Given the description of an element on the screen output the (x, y) to click on. 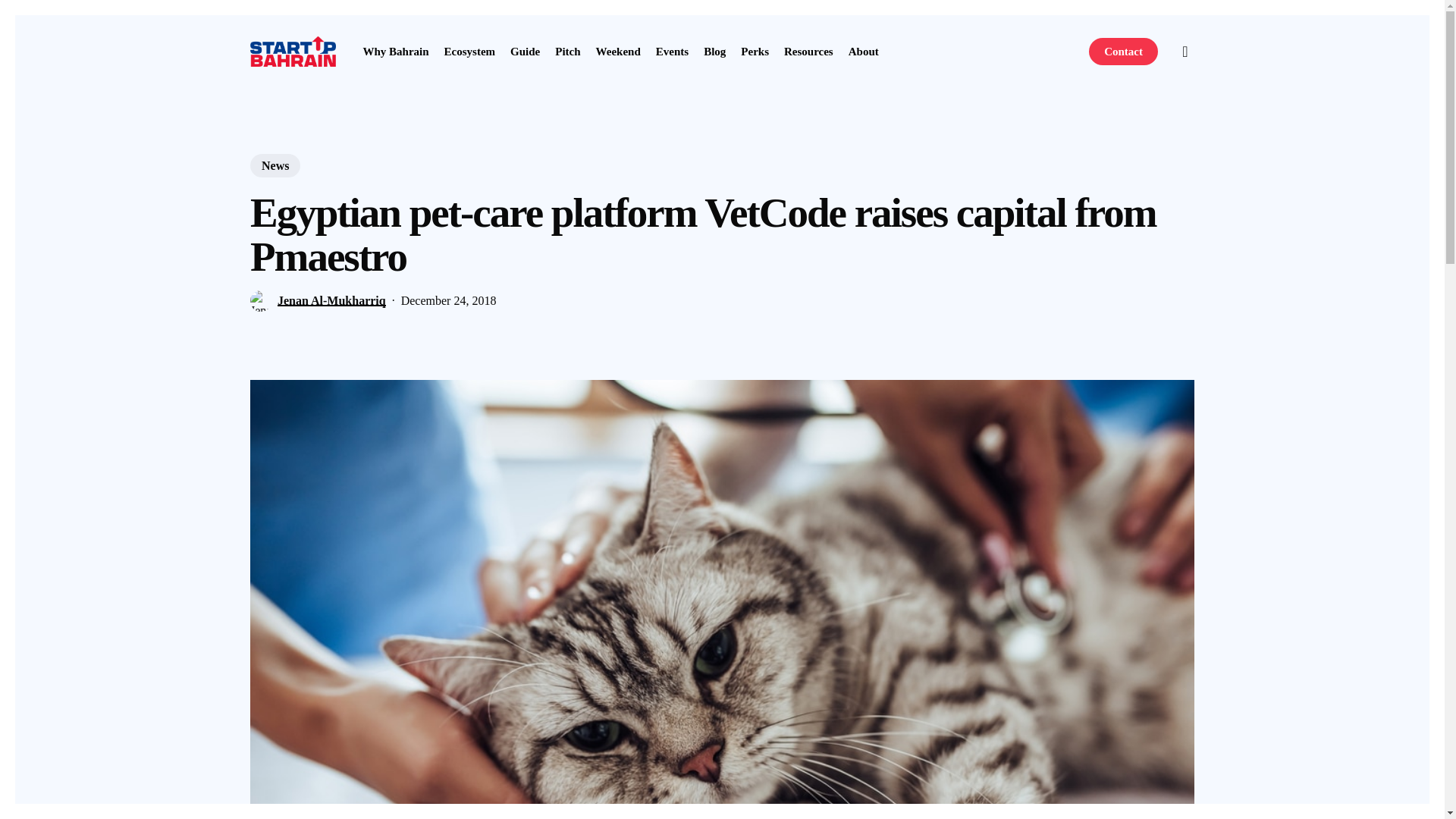
Ecosystem (469, 50)
Why Bahrain (395, 50)
Guide (524, 50)
Weekend (617, 50)
Resources (808, 50)
Blog (714, 50)
Pitch (567, 50)
Posts by Jenan Al-Mukharriq (331, 300)
Perks (754, 50)
Contact (1123, 50)
Events (671, 50)
News (274, 165)
Jenan Al-Mukharriq (331, 300)
search (1184, 51)
About (863, 50)
